Given the description of an element on the screen output the (x, y) to click on. 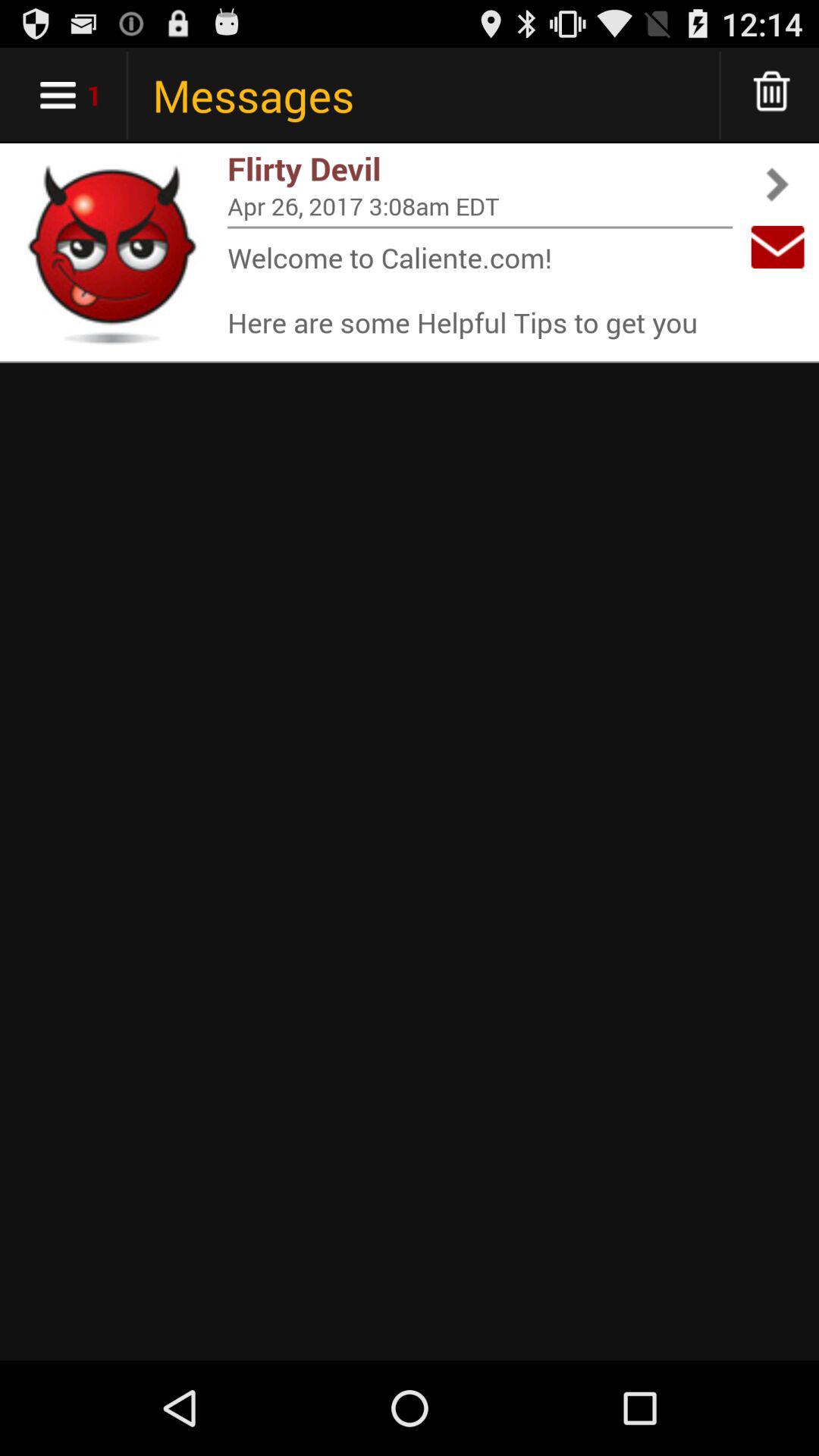
jump until the apr 26 2017 icon (479, 205)
